Given the description of an element on the screen output the (x, y) to click on. 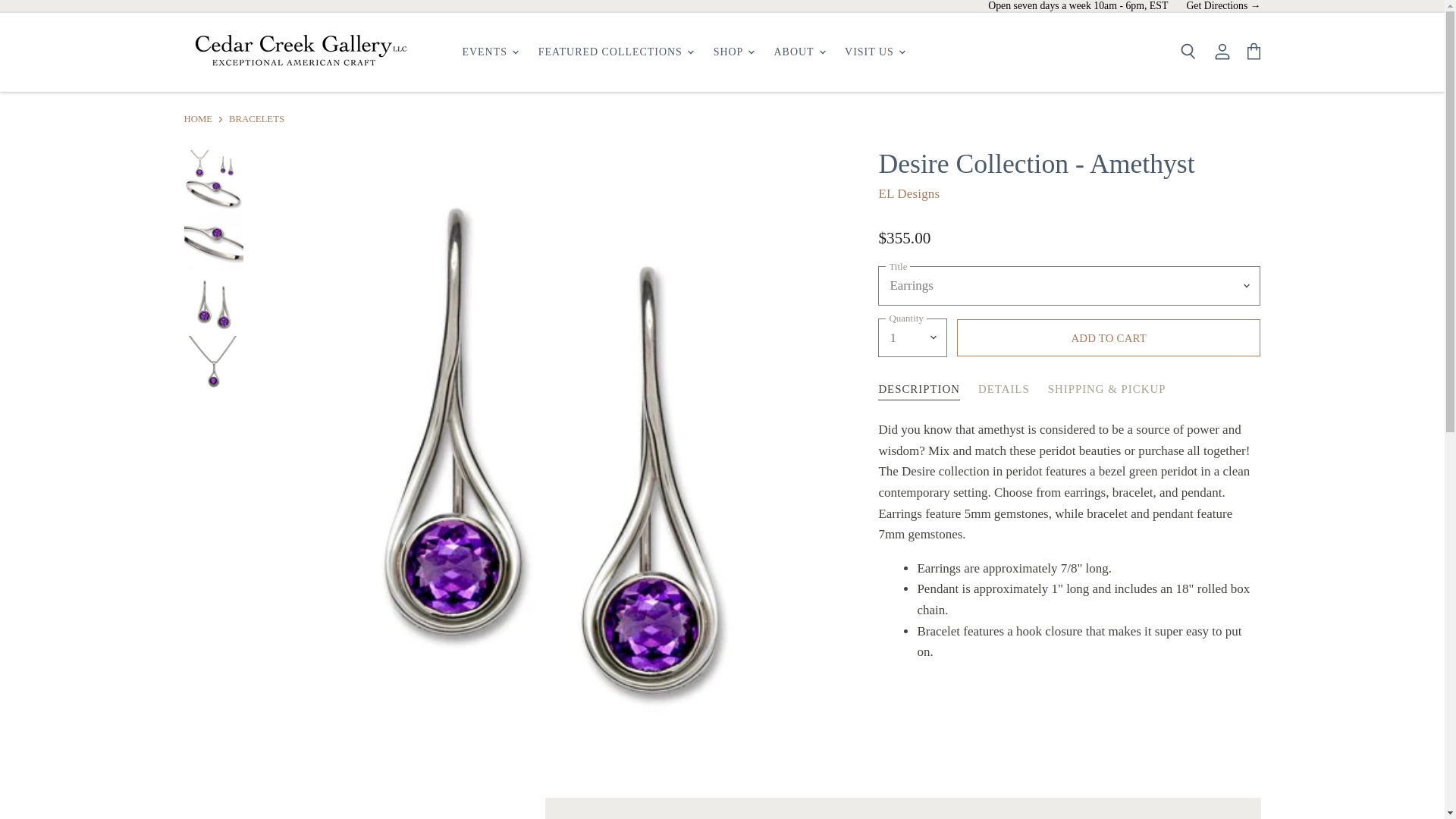
EL Designs (908, 193)
Open seven days a week 10am - 6pm, EST (1077, 6)
FEATURED COLLECTIONS (615, 51)
EVENTS (488, 51)
SHOP (732, 51)
